Given the description of an element on the screen output the (x, y) to click on. 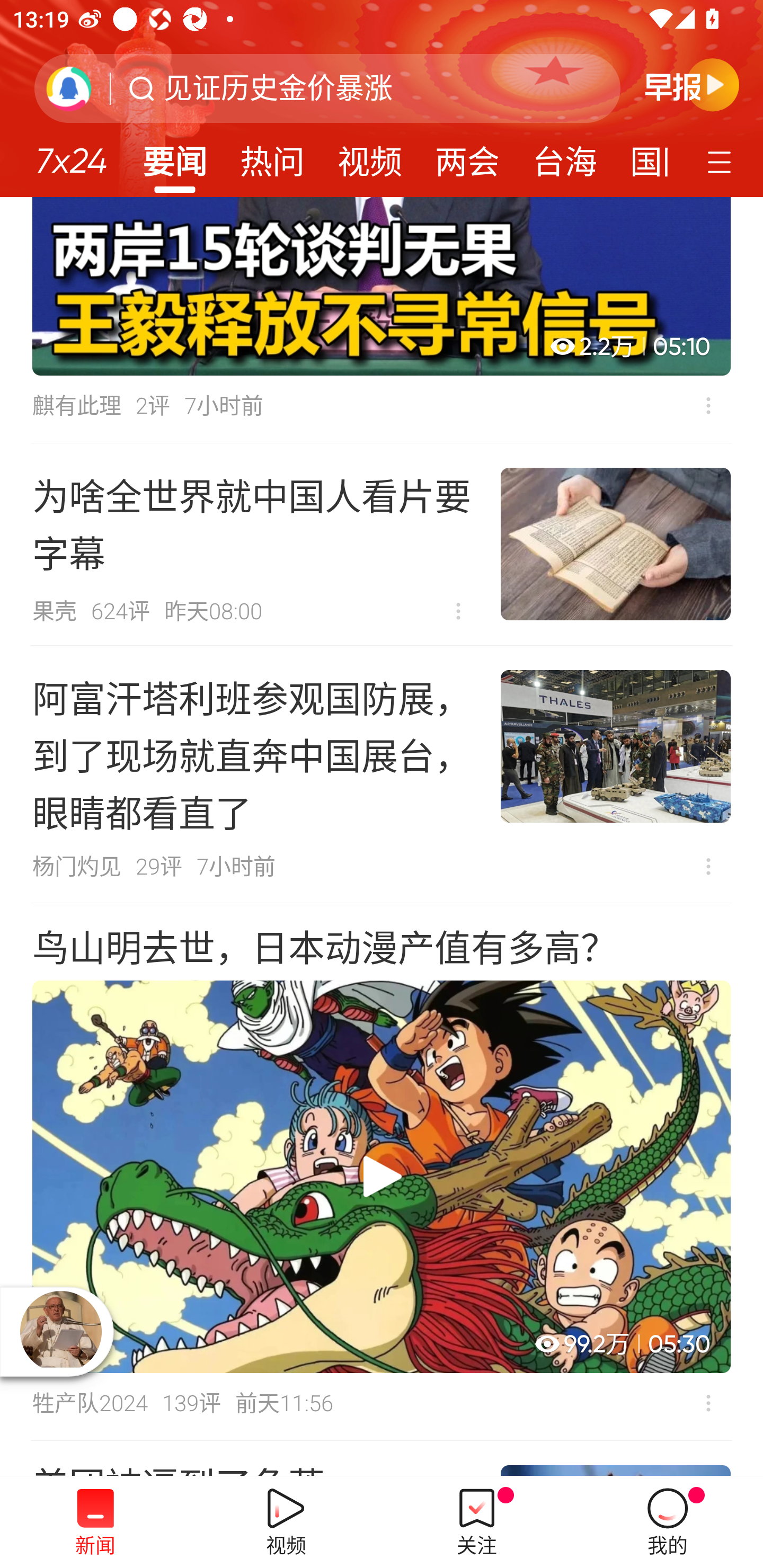
早晚报 (691, 84)
刷新 (68, 88)
见证历史金价暴涨 (278, 88)
7x24 (70, 154)
要闻 (174, 155)
热问 (272, 155)
视频 (369, 155)
两会 (466, 155)
台海 (564, 155)
 定制频道 (721, 160)
 2.2万 05:10 麒有此理 2评 7小时前  不感兴趣 (381, 319)
 不感兴趣 (707, 406)
为啥全世界就中国人看片要字幕 果壳 624评 昨天08:00  不感兴趣 (381, 543)
 不感兴趣 (458, 611)
 不感兴趣 (707, 867)
播放器 (60, 1331)
 不感兴趣 (707, 1403)
